Given the description of an element on the screen output the (x, y) to click on. 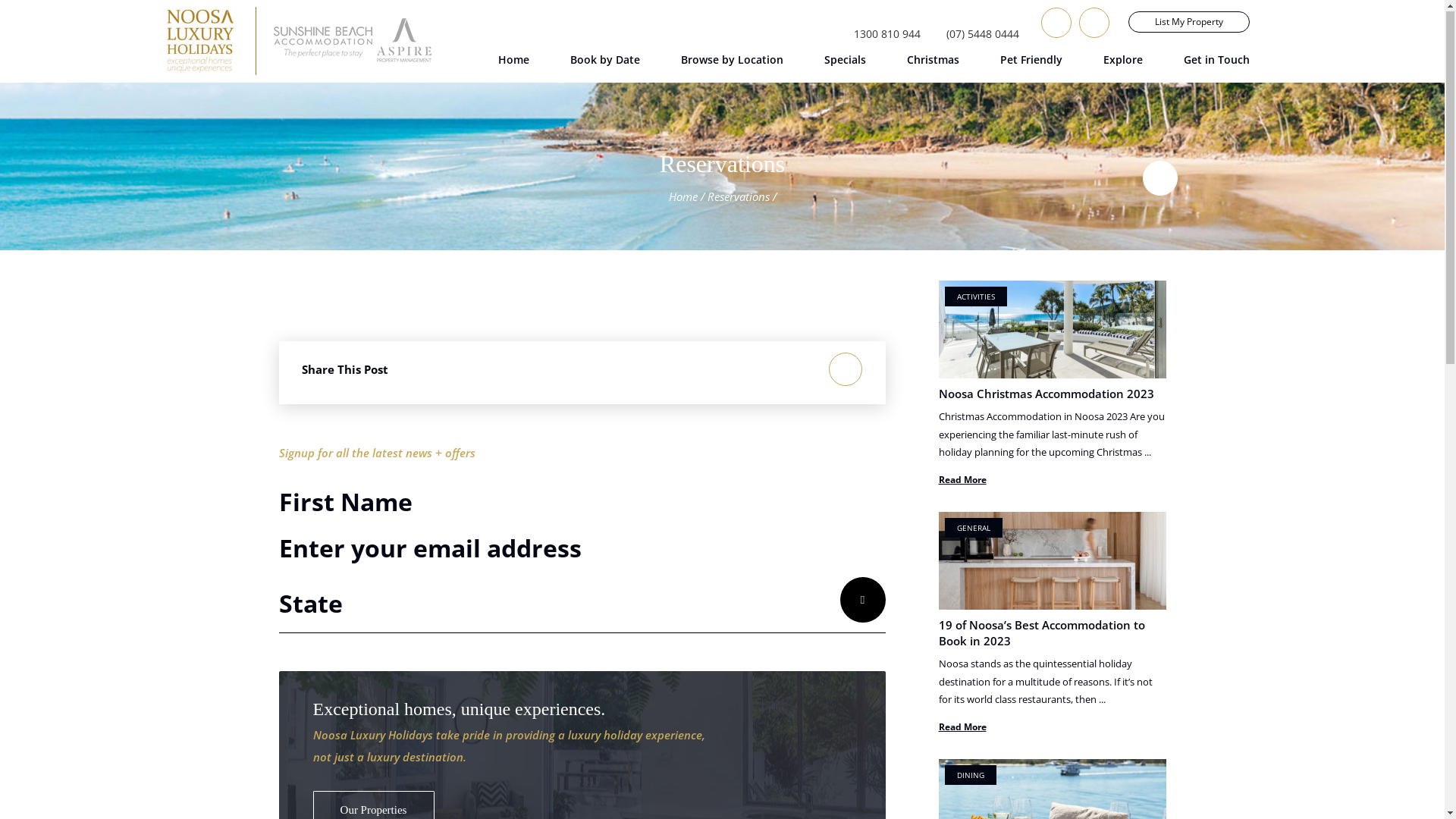
Pet Friendly Element type: text (1030, 62)
Read More Element type: text (962, 727)
Home Element type: text (682, 196)
Book by Date Element type: text (605, 62)
Specials Element type: text (844, 62)
Noosa Christmas Accommodation 2023 Element type: text (1046, 393)
Noosa Luxury Holidays Element type: hover (348, 41)
List My Property Element type: text (1188, 22)
(07) 5448 0444 Element type: text (978, 34)
Noosa Luxury Holidays Element type: hover (200, 42)
Get in Touch Element type: text (1215, 62)
1300 810 944 Element type: text (883, 34)
Browse by Location Element type: text (731, 62)
Read More Element type: text (962, 479)
Explore Element type: text (1122, 62)
Christmas Element type: text (932, 62)
Home Element type: text (512, 62)
